Given the description of an element on the screen output the (x, y) to click on. 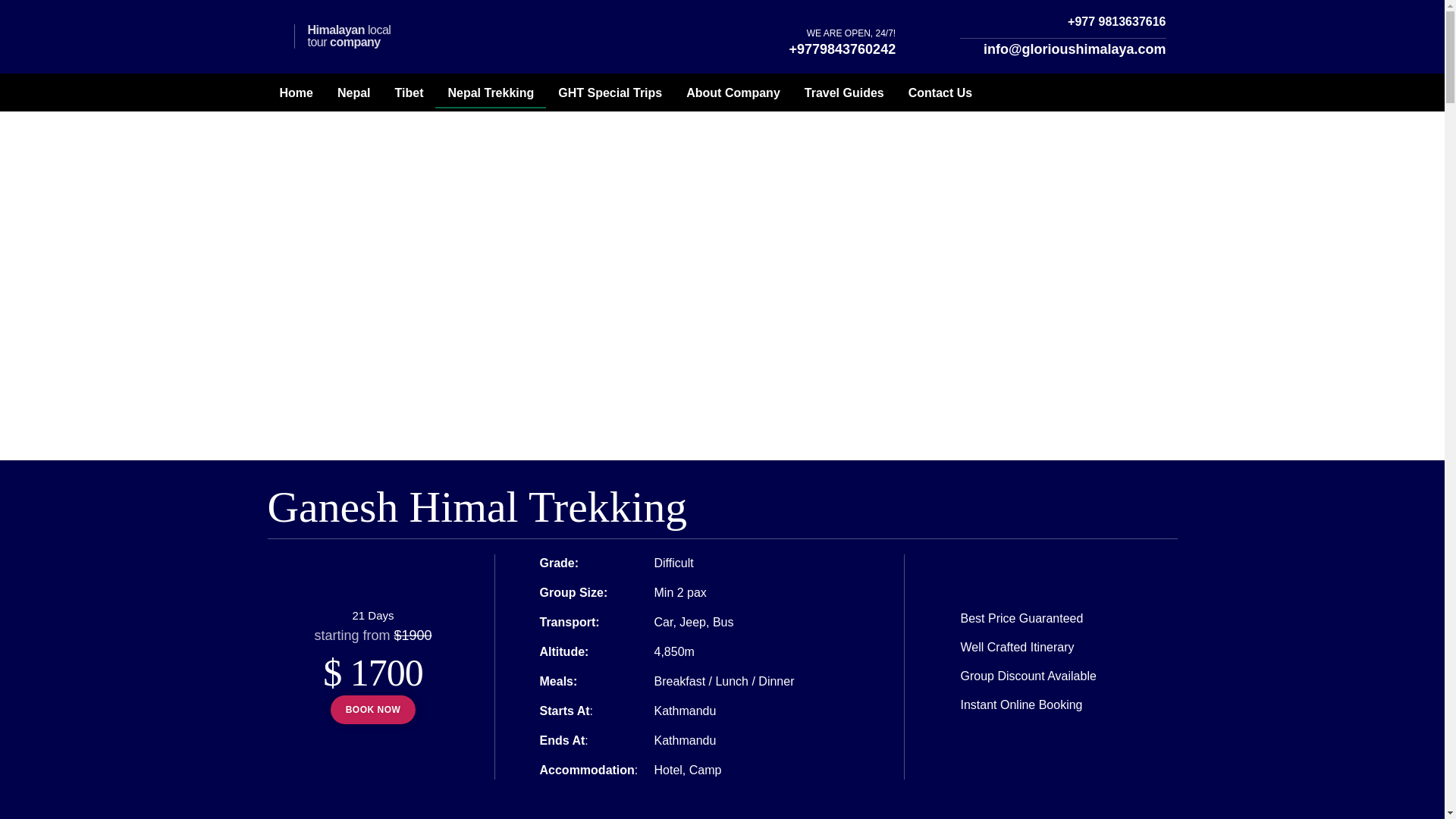
Nepal (353, 92)
Home (295, 92)
